Given the description of an element on the screen output the (x, y) to click on. 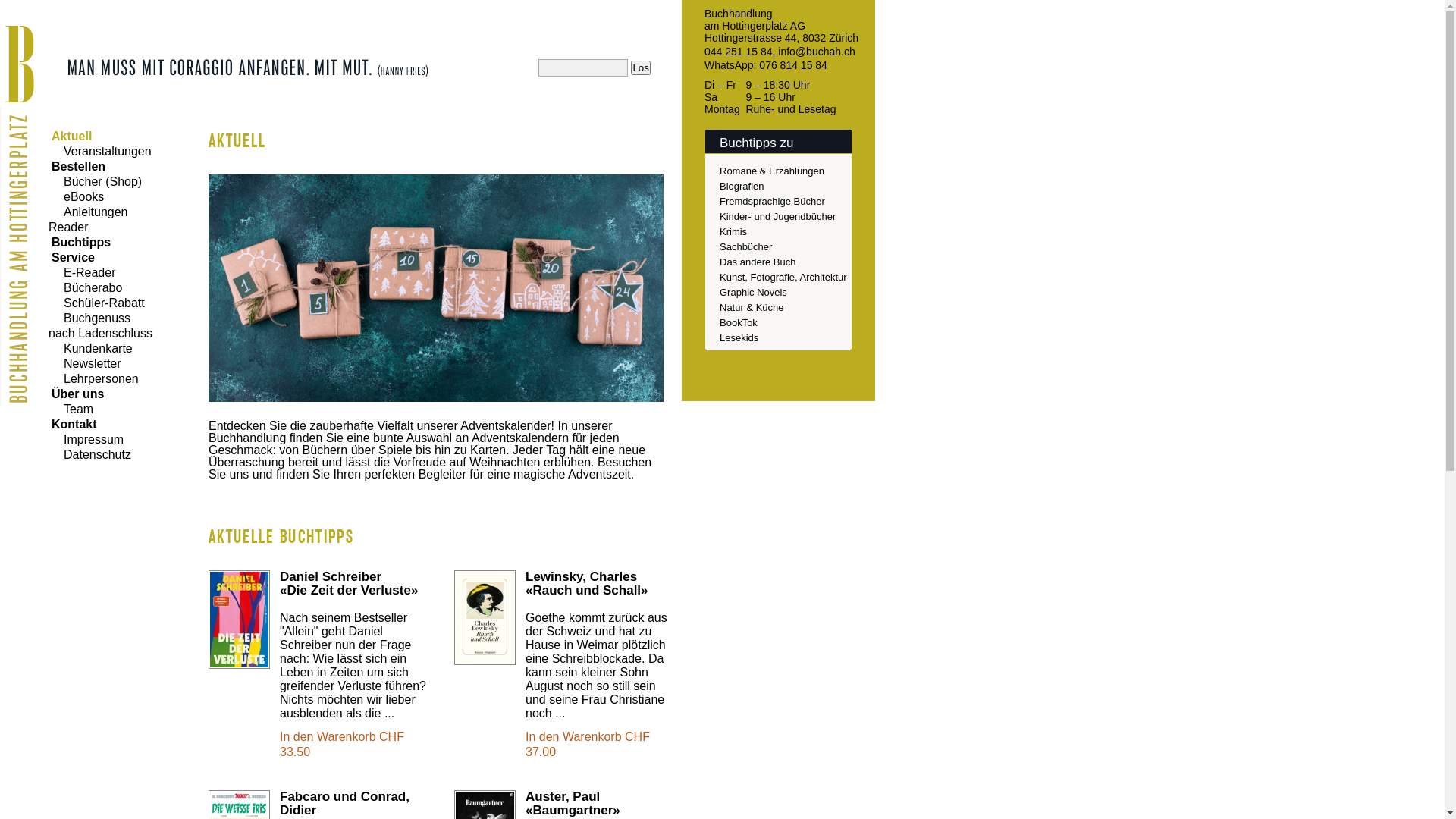
Los Element type: text (640, 67)
Lesekids Element type: text (738, 337)
Gehe zu Die Zeit der Verluste Details Element type: hover (239, 619)
Kundenkarte Element type: text (90, 348)
info@buchah.ch Element type: text (816, 51)
Buchgenuss nach Ladenschluss Element type: text (100, 325)
Bestellen Element type: text (76, 166)
In den Warenkorb CHF 37.00 Element type: text (587, 744)
Newsletter Element type: text (84, 363)
Service Element type: text (71, 257)
Anleitungen Reader Element type: text (88, 219)
Kontakt Element type: text (72, 423)
Team Element type: text (70, 408)
Das andere Buch Element type: text (757, 261)
Veranstaltungen Element type: text (99, 150)
Lehrpersonen Element type: text (93, 378)
Graphic Novels Element type: text (753, 292)
Buchtipps Element type: text (79, 241)
Los Element type: hover (640, 67)
Biografien Element type: text (741, 185)
eBooks Element type: text (75, 196)
BookTok Element type: text (738, 322)
In den Warenkorb CHF 33.50 Element type: text (341, 744)
Gehe zu Rauch und Schall Details Element type: hover (484, 617)
Kunst, Fotografie, Architektur Element type: text (783, 276)
Aktuell Element type: text (69, 135)
Impressum Element type: text (85, 439)
Datenschutz Element type: text (89, 454)
Krimis Element type: text (732, 231)
E-Reader Element type: text (81, 272)
